Given the description of an element on the screen output the (x, y) to click on. 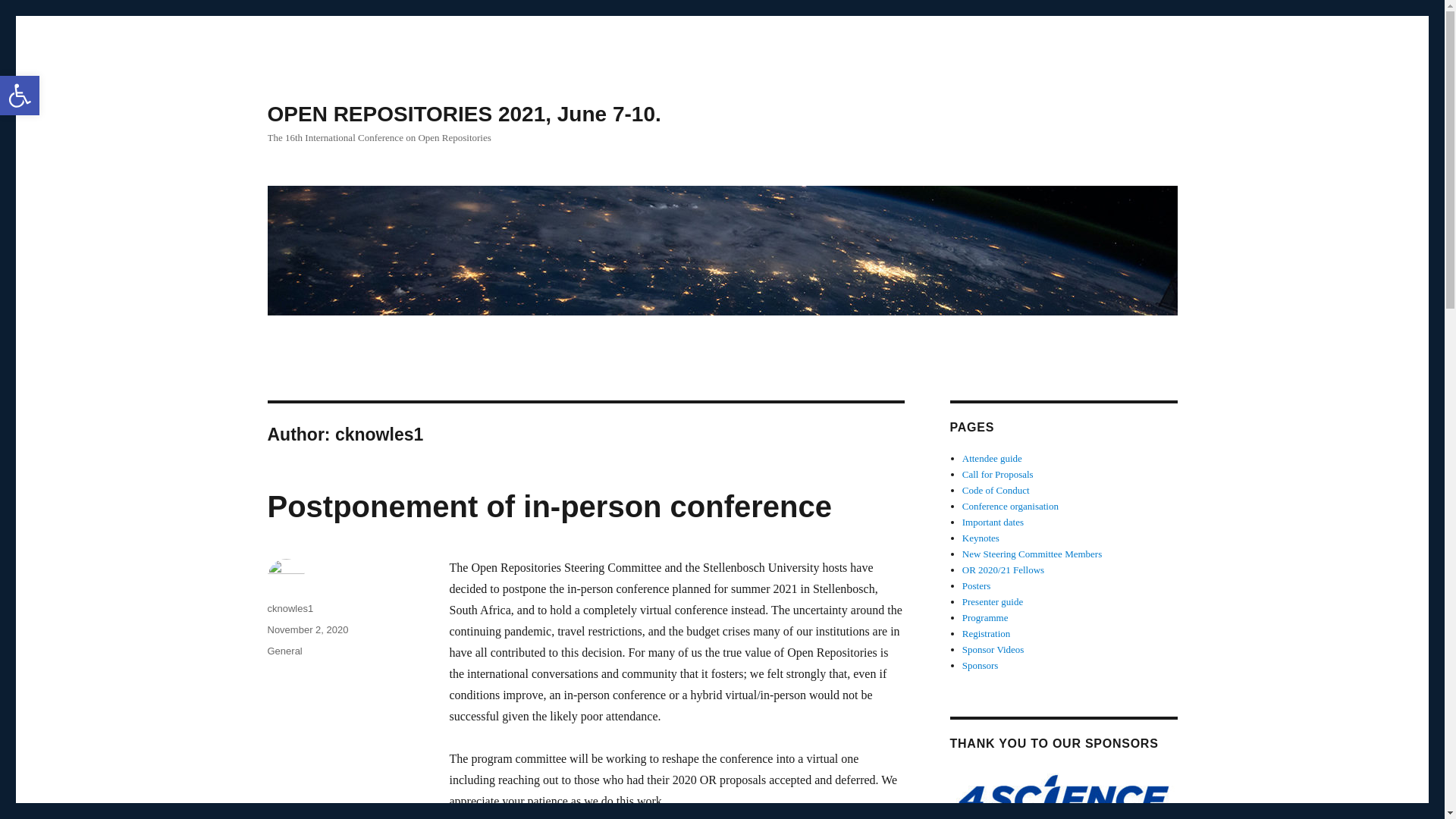
Code of Conduct (995, 490)
Attendee guide (992, 458)
OPEN REPOSITORIES 2021, June 7-10. (463, 114)
Programme (985, 617)
General (283, 650)
Keynotes (980, 537)
Posters (976, 585)
Call for Proposals (997, 473)
Accessibility Tools (19, 95)
Registration (986, 633)
Sponsors (980, 665)
New Steering Committee Members (1032, 553)
cknowles1 (289, 608)
Accessibility Tools (19, 95)
Important dates (992, 521)
